Given the description of an element on the screen output the (x, y) to click on. 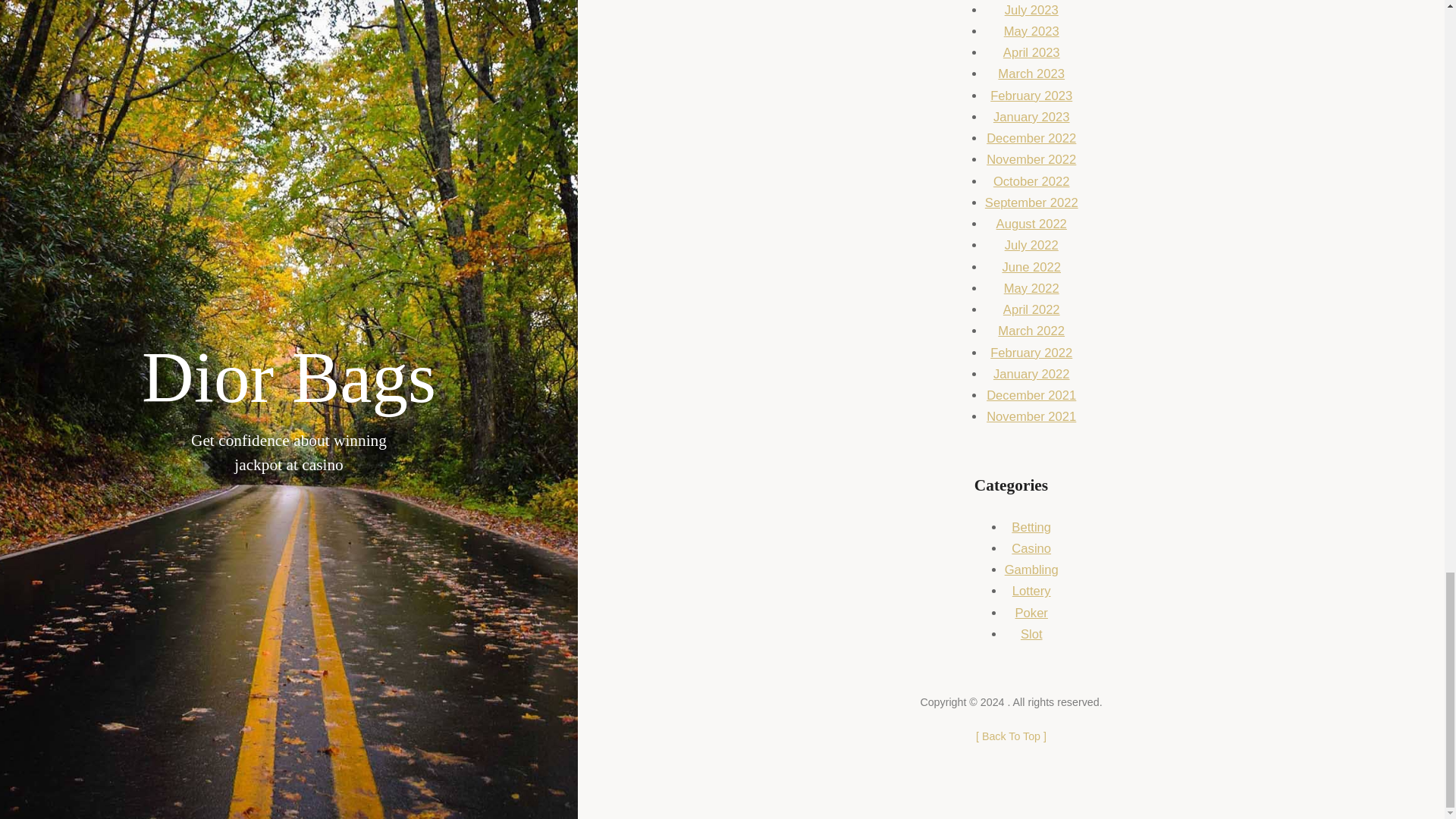
July 2023 (1031, 10)
July 2022 (1031, 245)
May 2022 (1031, 288)
June 2022 (1031, 267)
January 2023 (1031, 116)
April 2023 (1031, 52)
December 2022 (1031, 138)
May 2023 (1031, 31)
Back To Top (1010, 736)
March 2023 (1030, 73)
